Given the description of an element on the screen output the (x, y) to click on. 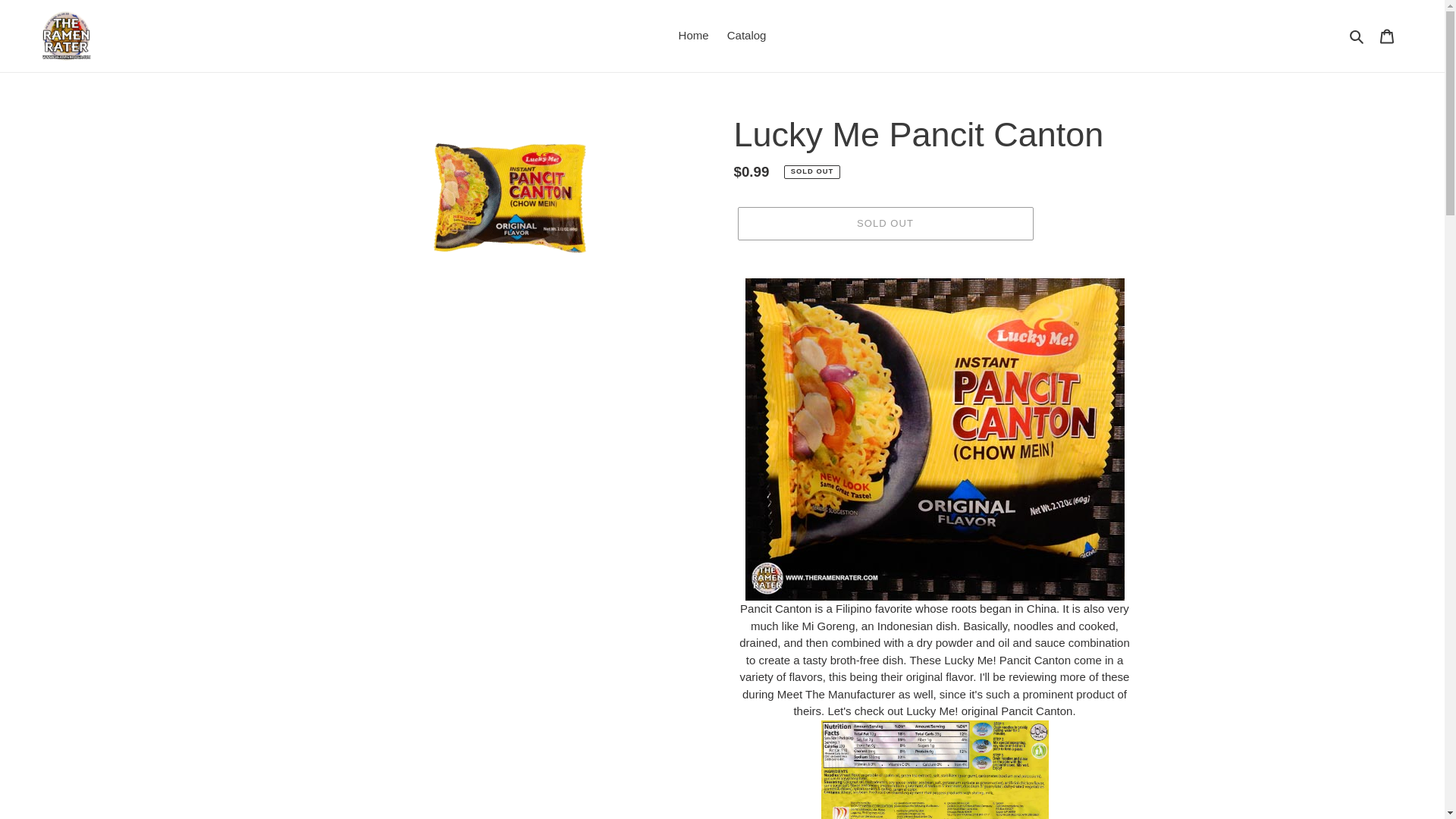
Catalog (746, 35)
SOLD OUT (884, 223)
Home (693, 35)
Search (1357, 35)
Cart (1387, 35)
